Given the description of an element on the screen output the (x, y) to click on. 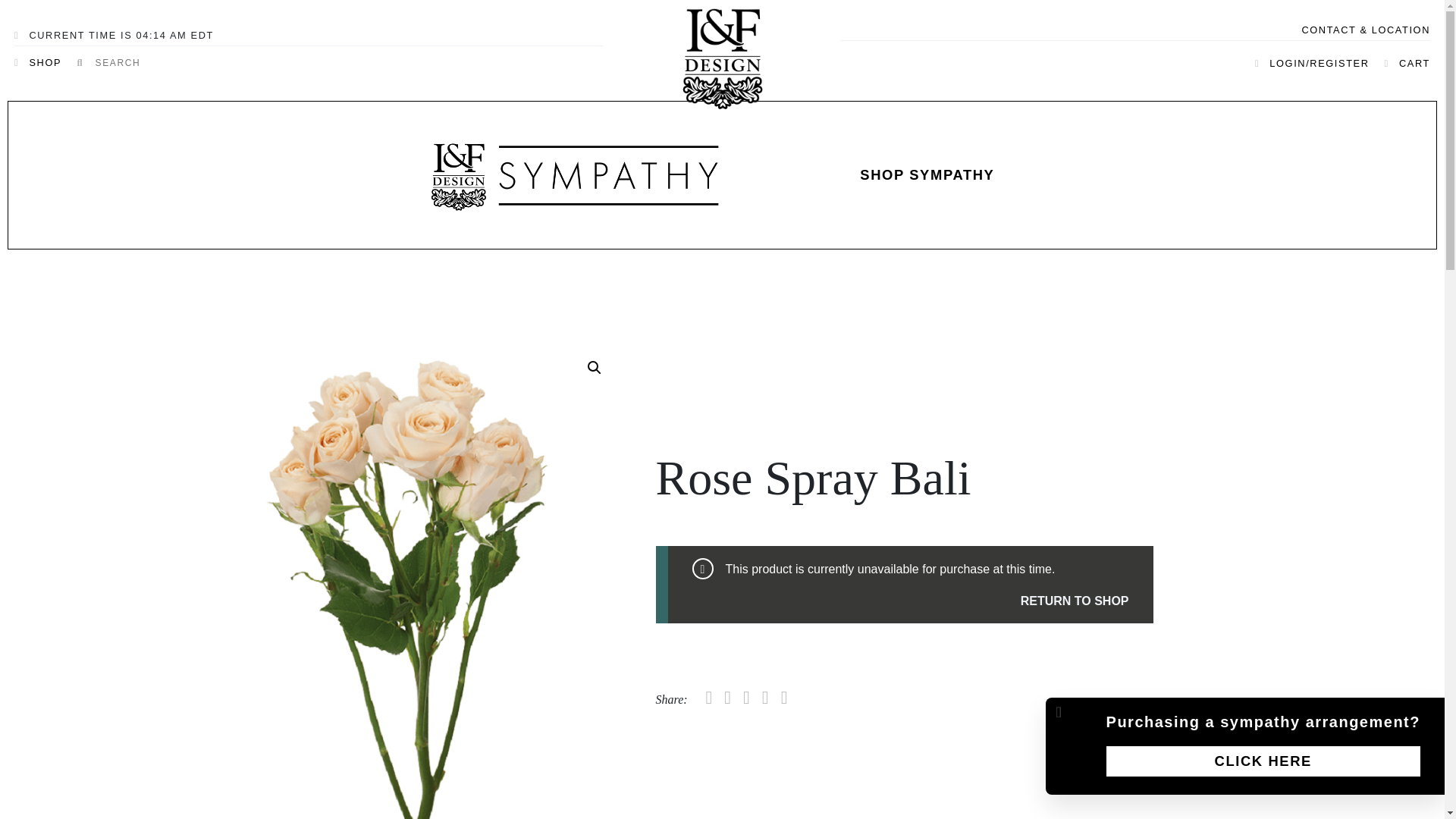
Pin it (783, 697)
CART (1399, 62)
Email (709, 697)
Share on linkedin (764, 697)
SHOP (45, 62)
Share on twitter (726, 697)
RETURN TO SHOP (909, 600)
Share on facebook (745, 697)
